Given the description of an element on the screen output the (x, y) to click on. 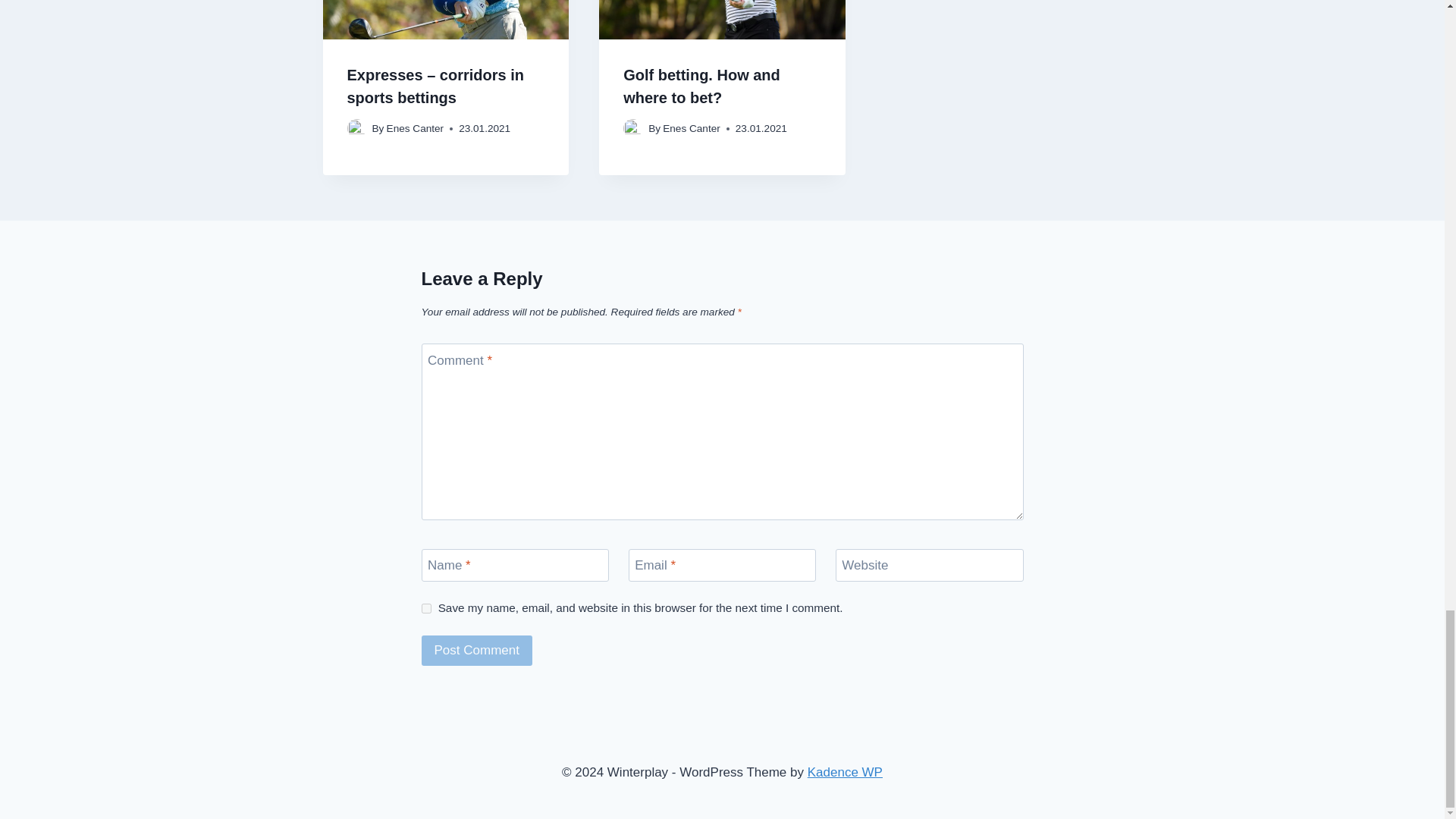
Post Comment (477, 650)
Post Comment (477, 650)
Enes Canter (415, 128)
Kadence WP (845, 771)
yes (426, 608)
Enes Canter (691, 128)
Golf betting. How and where to bet? (701, 86)
